Given the description of an element on the screen output the (x, y) to click on. 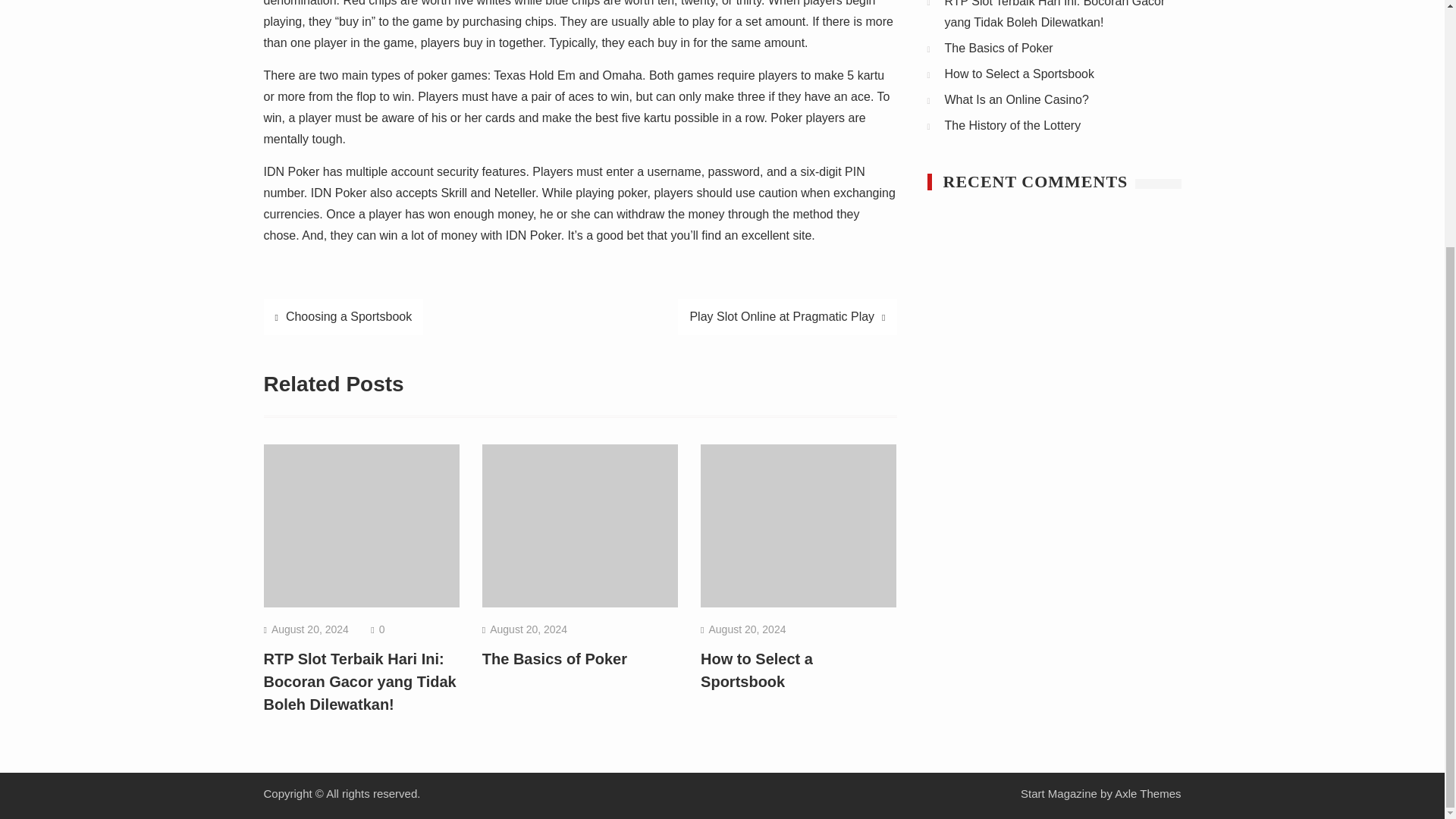
How to Select a Sportsbook (756, 670)
Axle Themes (1147, 793)
Play Slot Online at Pragmatic Play (787, 316)
The Basics of Poker (554, 658)
The History of the Lottery (1012, 124)
How to Select a Sportsbook (1019, 73)
The Basics of Poker (998, 47)
Choosing a Sportsbook (343, 316)
